Given the description of an element on the screen output the (x, y) to click on. 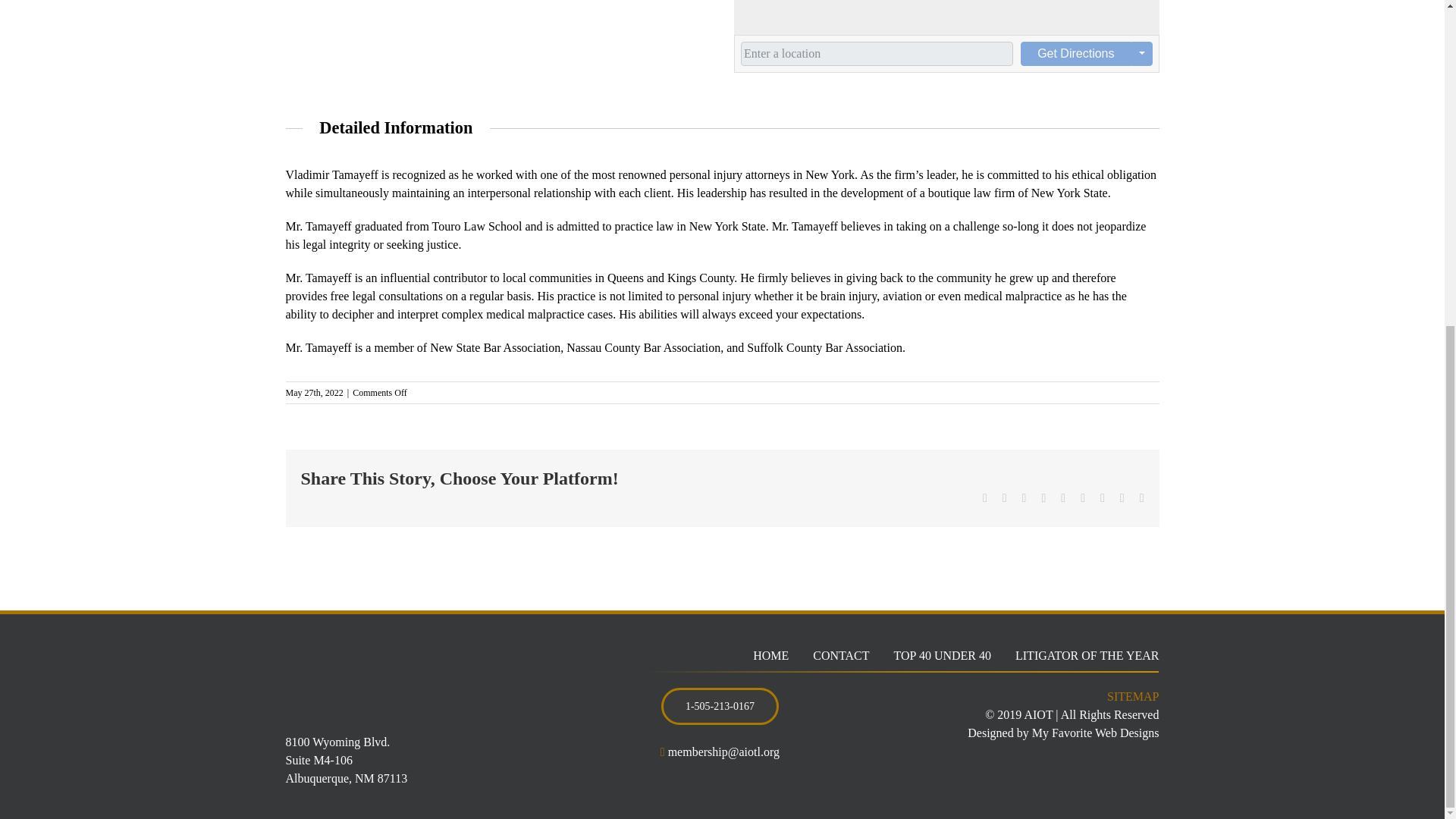
CONTACT (840, 656)
HOME (770, 656)
Get Directions (1075, 53)
